Given the description of an element on the screen output the (x, y) to click on. 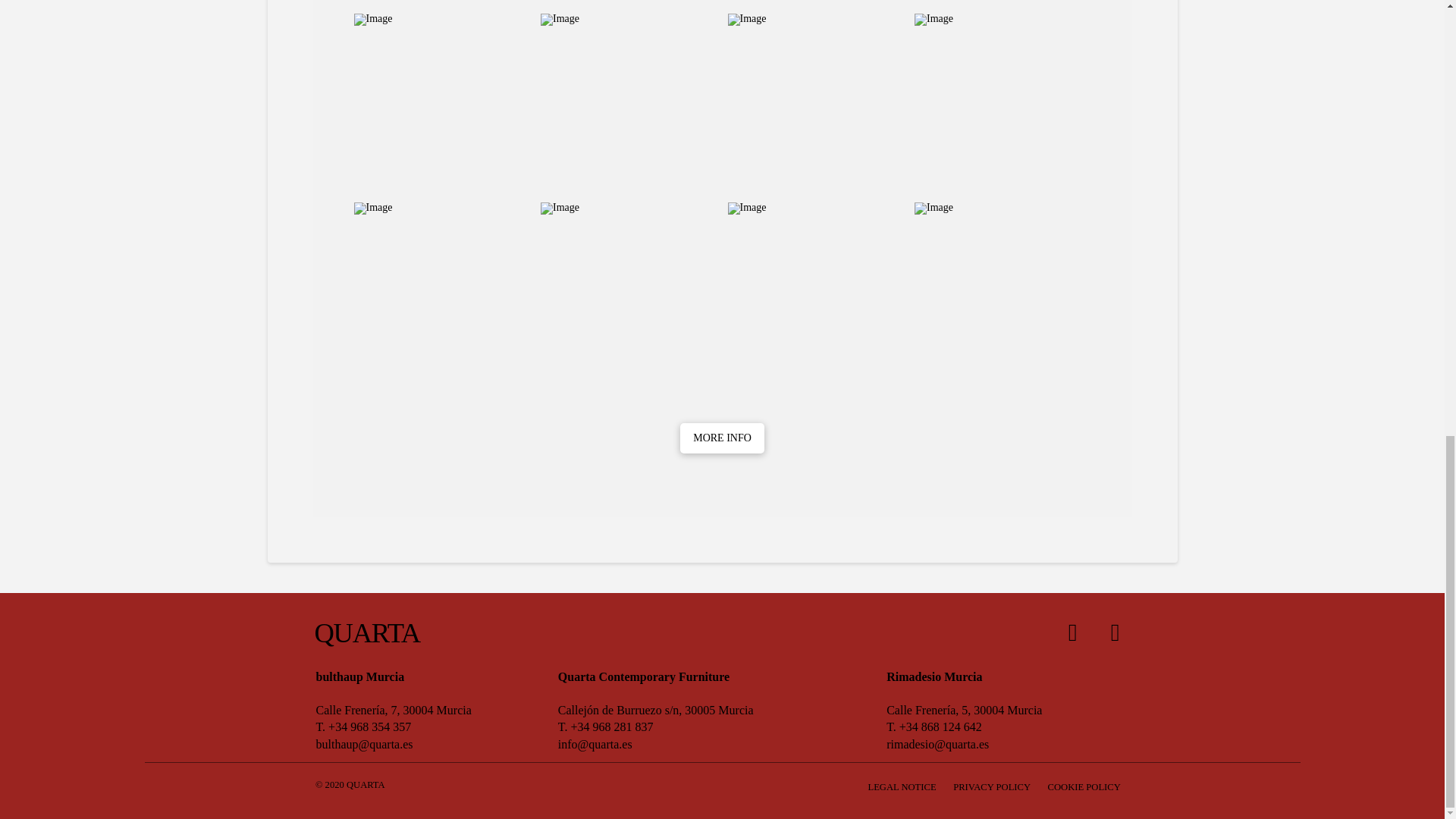
PRIVACY POLICY (991, 787)
COOKIE POLICY (1084, 787)
MORE INFO (720, 438)
LEGAL NOTICE (901, 787)
